Given the description of an element on the screen output the (x, y) to click on. 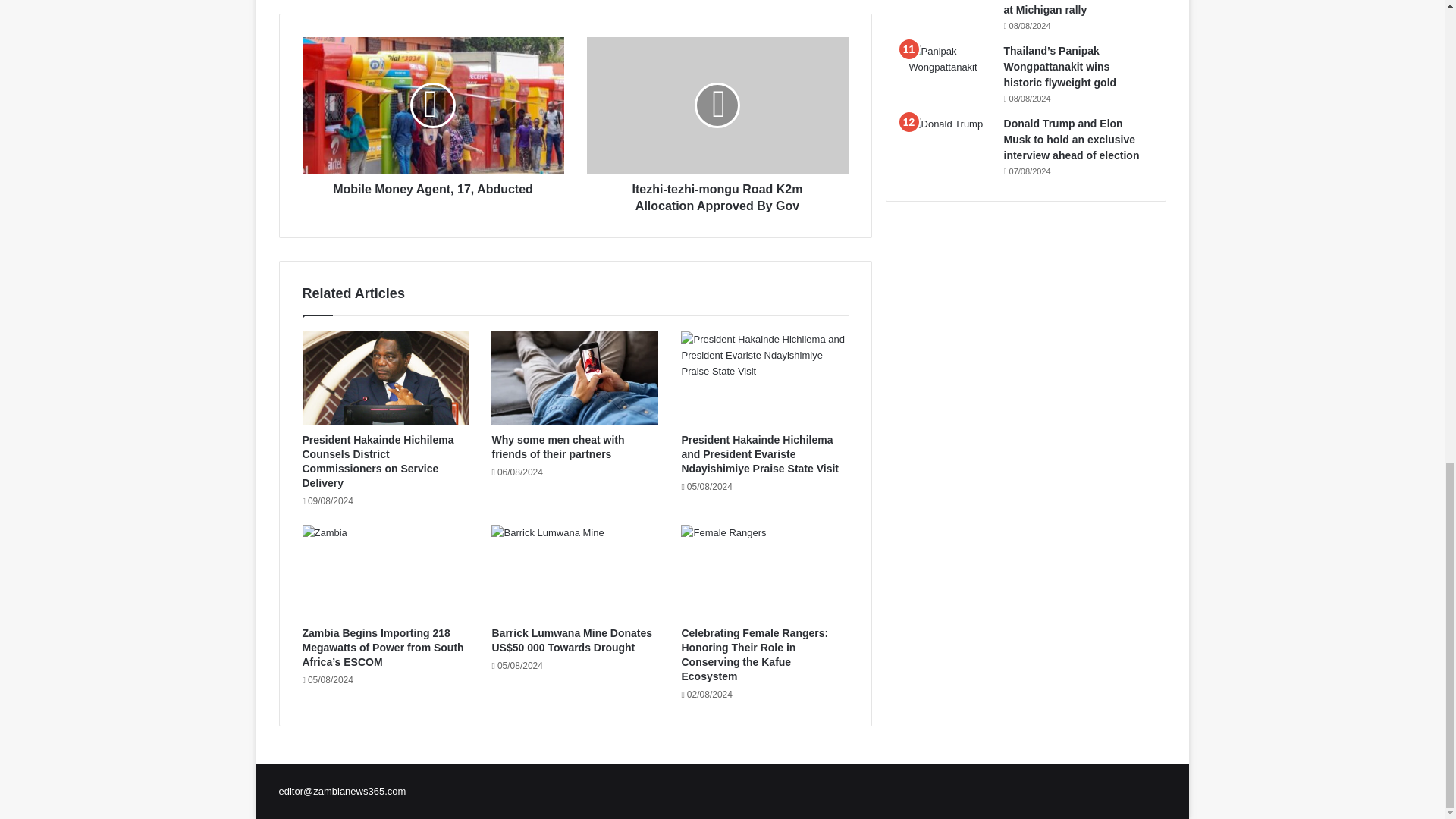
Itezhi-tezhi-mongu Road K2m Allocation Approved By Gov (717, 104)
Itezhi-tezhi-mongu Road K2m Allocation Approved By Gov (717, 193)
Why some men cheat with friends of their partners (558, 447)
Mobile Money Agent, 17, Abducted (432, 185)
Mobile Money Agent, 17, Abducted (432, 104)
